Given the description of an element on the screen output the (x, y) to click on. 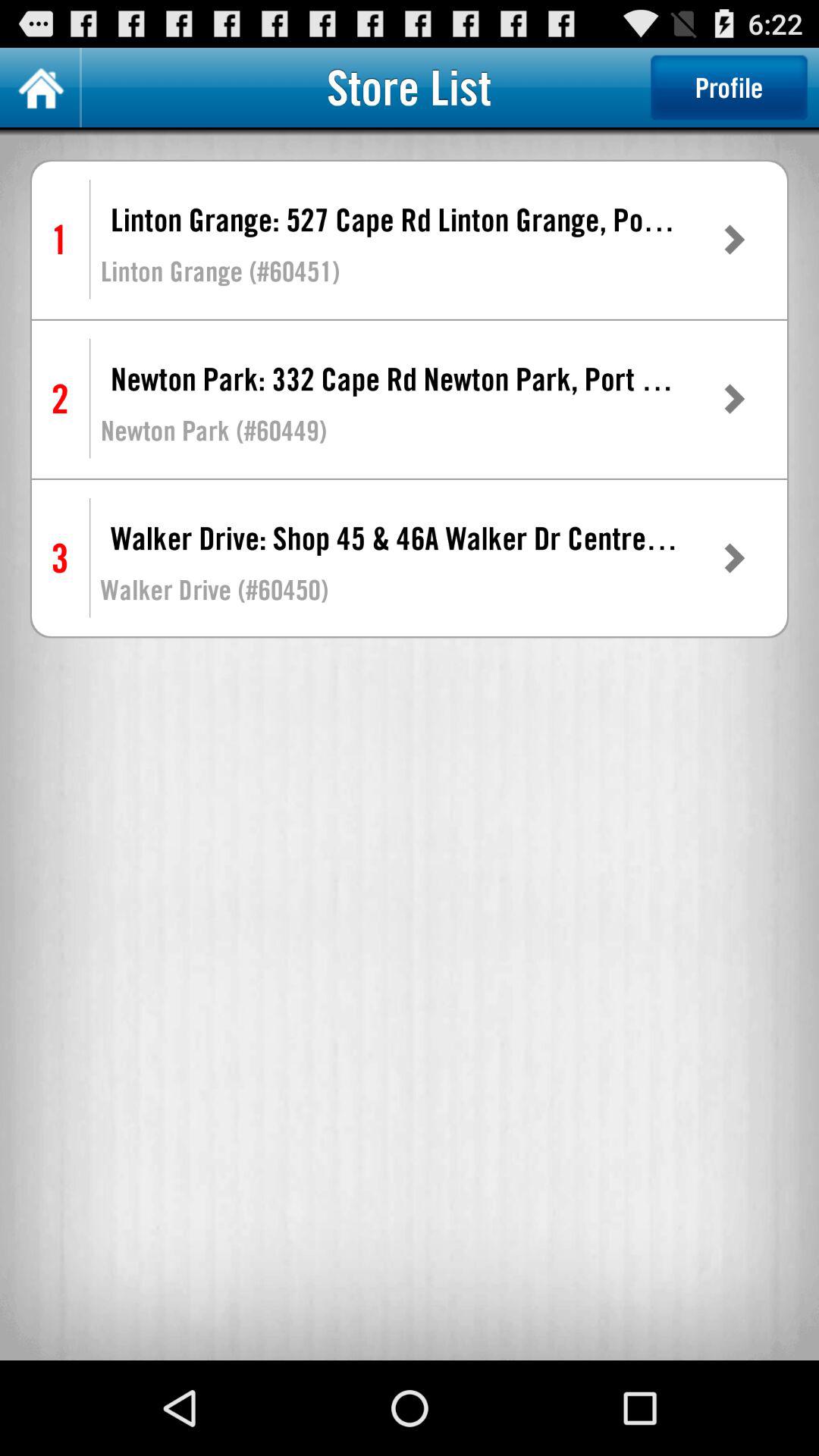
click 3 (59, 558)
